Given the description of an element on the screen output the (x, y) to click on. 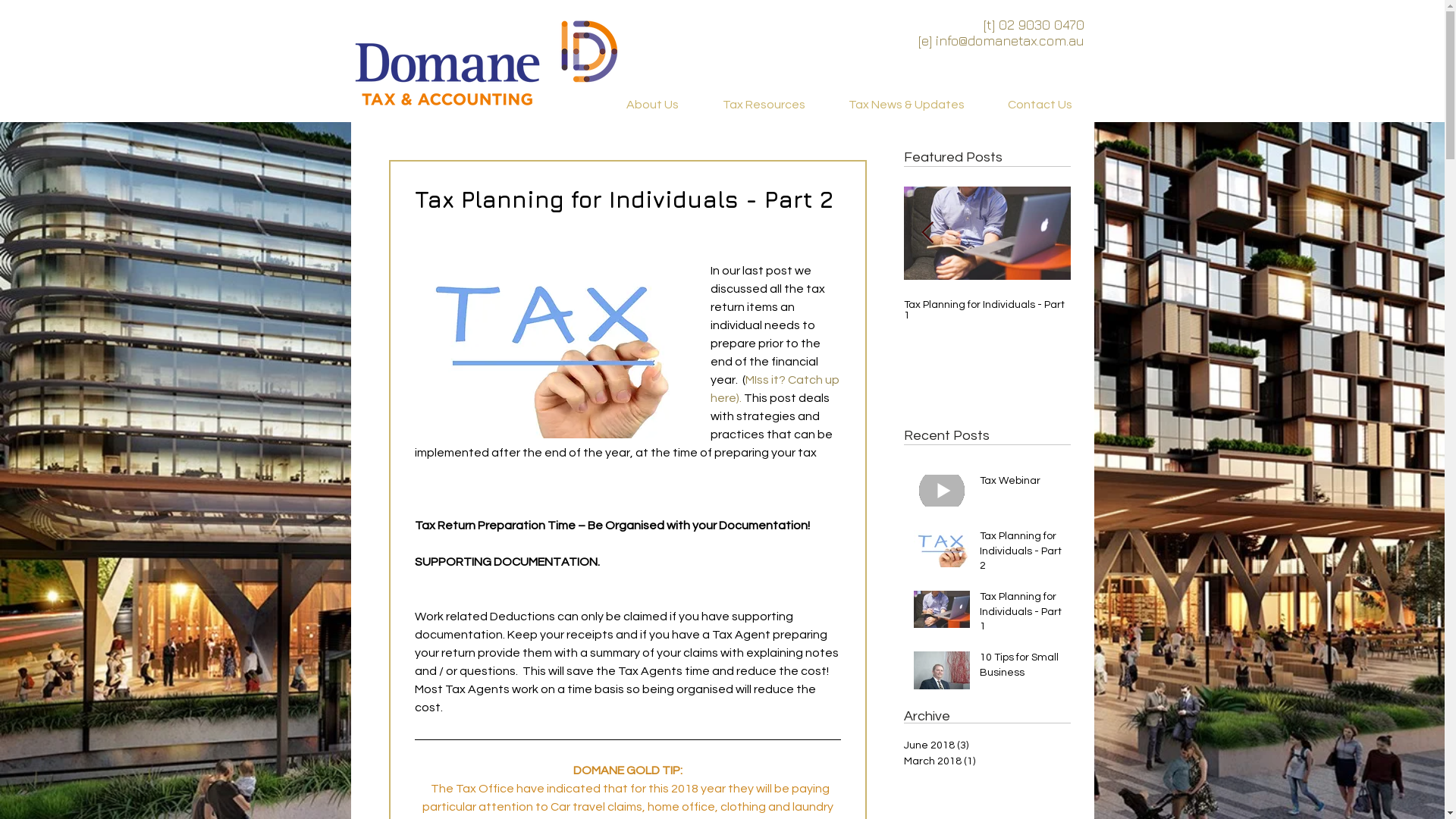
Tax Planning for Individuals - Part 1 Element type: text (1020, 614)
Tax Resources Element type: text (763, 104)
About Us Element type: text (651, 104)
Tax Planning for Individuals - Part 1 Element type: text (986, 309)
Tax News & Updates Element type: text (905, 104)
Tax Planning for Individuals - Part 2 Element type: text (820, 309)
MIss it? Catch up here). Element type: text (774, 388)
Tax Planning for Individuals - Part 2 Element type: text (1020, 554)
Tax Webinar Element type: text (1020, 484)
Contact Us Element type: text (1039, 104)
March 2018 (1) Element type: text (983, 761)
10 Tips for Small Business Element type: text (1020, 668)
June 2018 (3) Element type: text (983, 745)
